Given the description of an element on the screen output the (x, y) to click on. 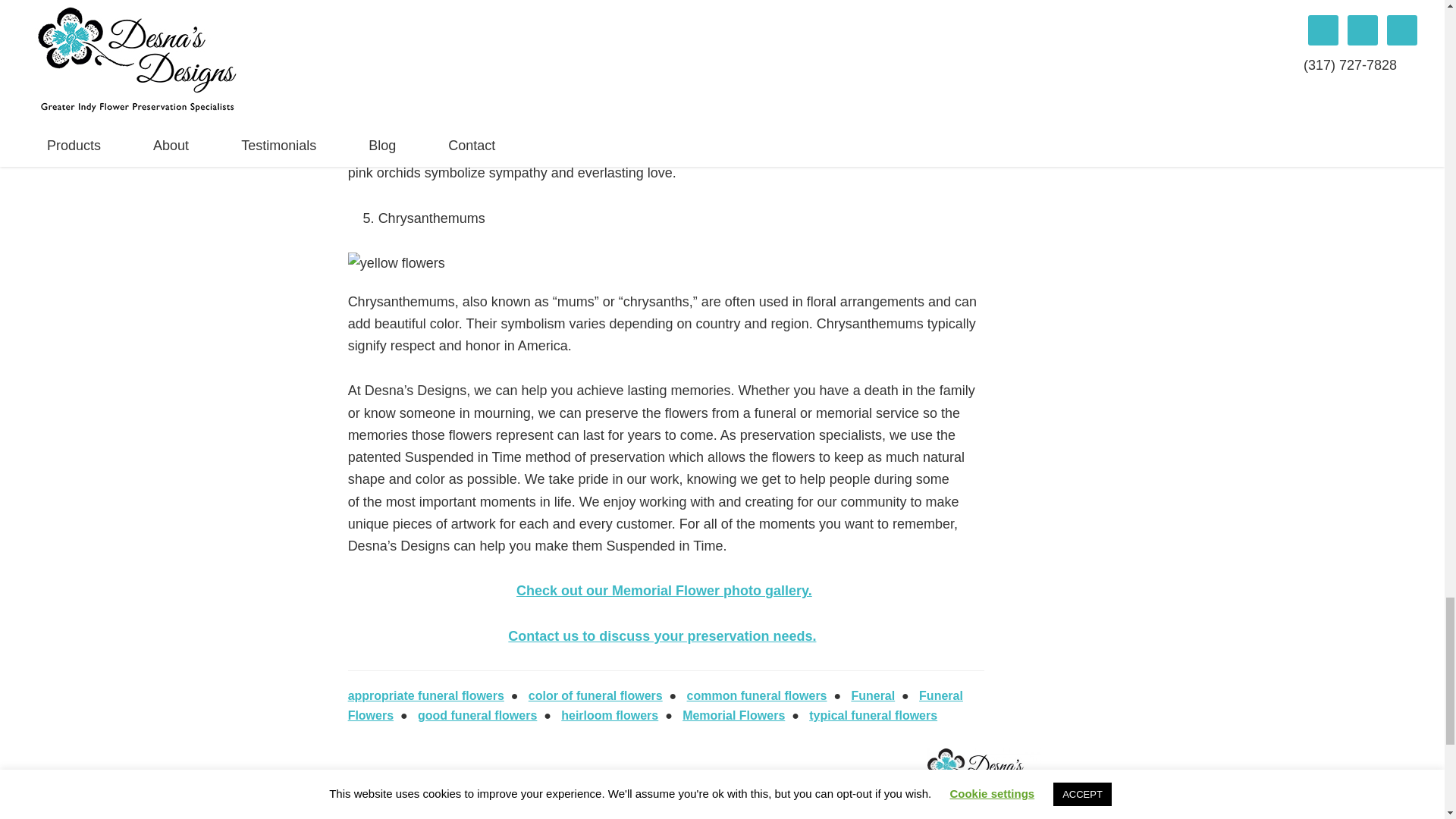
Funeral (872, 695)
typical funeral flowers (873, 715)
Memorial Flowers (733, 715)
common funeral flowers (757, 695)
heirloom flowers (609, 715)
Check out our Memorial Flower photo gallery. (664, 590)
Funeral Flowers (654, 705)
appropriate funeral flowers (425, 695)
Contact us to discuss your preservation needs. (661, 635)
color of funeral flowers (595, 695)
good funeral flowers (477, 715)
